Given the description of an element on the screen output the (x, y) to click on. 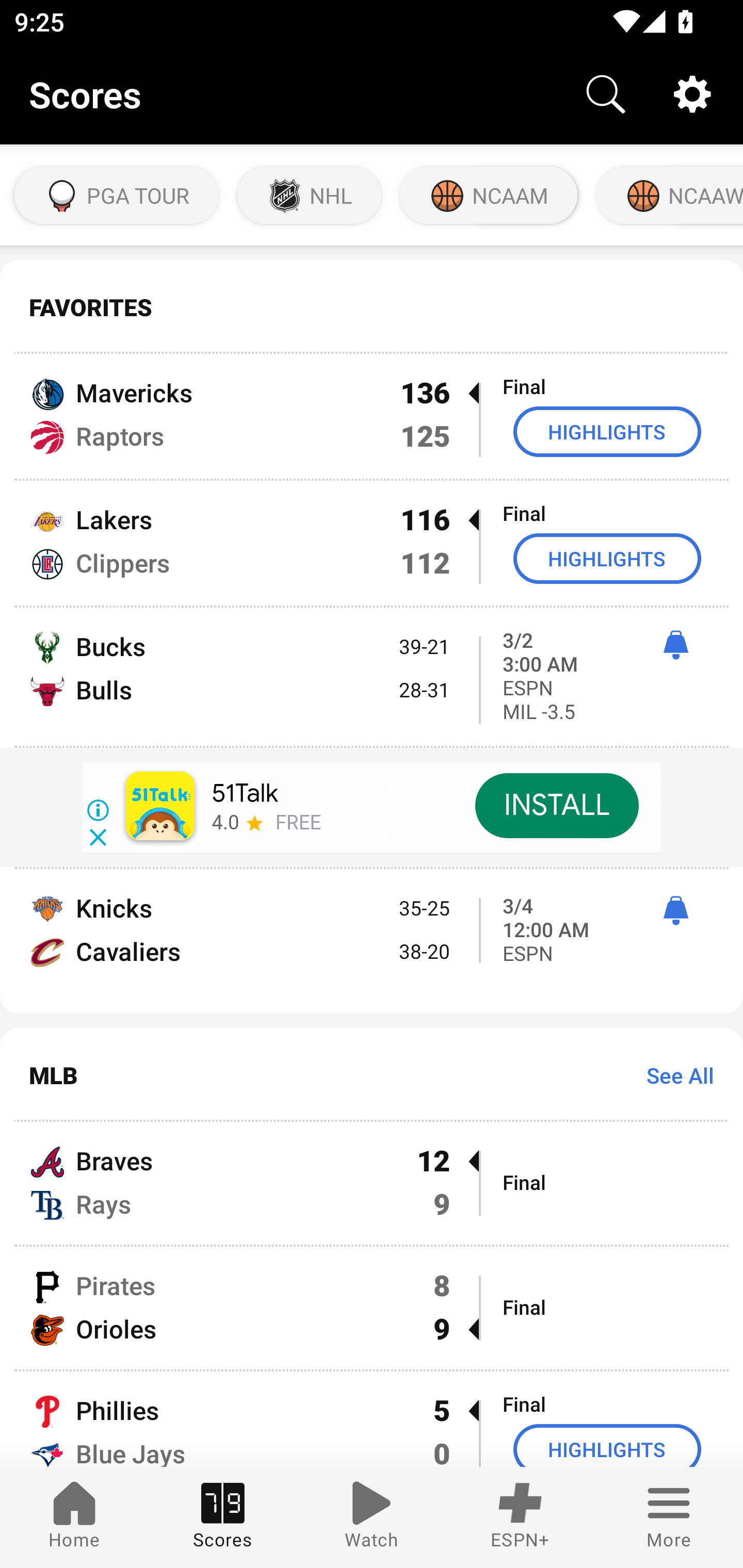
Search (605, 93)
Settings (692, 93)
PGA TOUR (116, 194)
NHL (309, 194)
NCAAM (488, 194)
NCAAW (667, 194)
FAVORITES (371, 307)
Mavericks 136  Final Raptors 125 HIGHLIGHTS (371, 416)
HIGHLIGHTS (607, 431)
Lakers 116  Final Clippers 112 HIGHLIGHTS (371, 543)
HIGHLIGHTS (607, 558)
ì (675, 644)
INSTALL (556, 805)
51Talk (244, 793)
Knicks 35-25 Cavaliers 38-20 3/4 12:00 AM ì ESPN (371, 940)
ì (675, 910)
MLB See All (371, 1074)
See All (673, 1074)
Braves 12  Rays 9 Final (371, 1182)
Pirates 8 Orioles 9  Final (371, 1307)
Phillies 5  Final Blue Jays 0 HIGHLIGHTS (371, 1419)
HIGHLIGHTS (607, 1445)
Home (74, 1517)
Watch (371, 1517)
ESPN+ (519, 1517)
More (668, 1517)
